Given the description of an element on the screen output the (x, y) to click on. 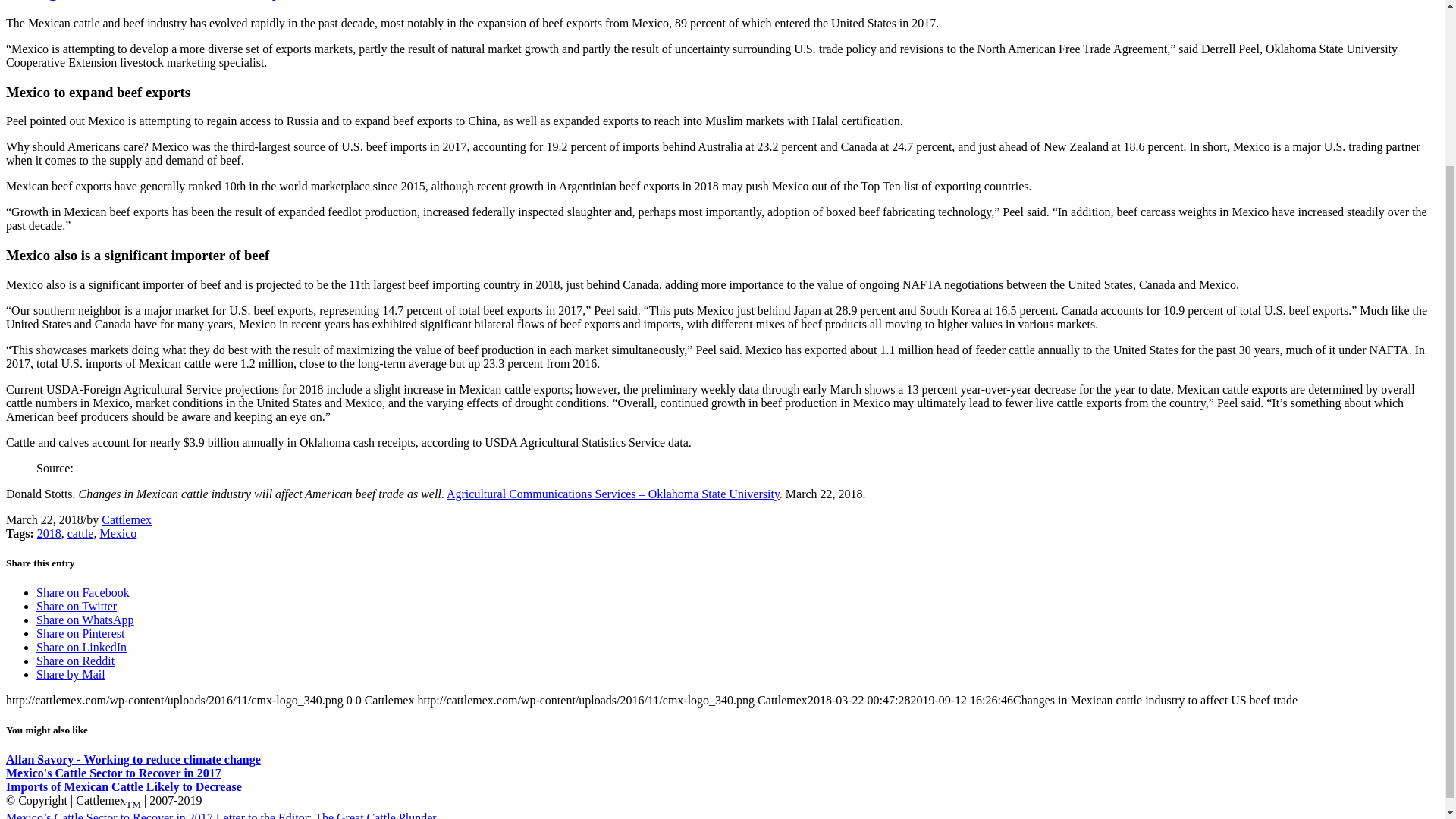
Posts by Cattlemex (126, 519)
2018 (49, 533)
Allan Savory - Working to reduce climate change (132, 758)
Allan Savory - Working to reduce climate change (132, 758)
Imports of Mexican Cattle Likely to Decrease (123, 786)
Mexico's Cattle Sector to Recover in 2017 (113, 772)
Share on Reddit (75, 660)
Mexico (117, 533)
